Given the description of an element on the screen output the (x, y) to click on. 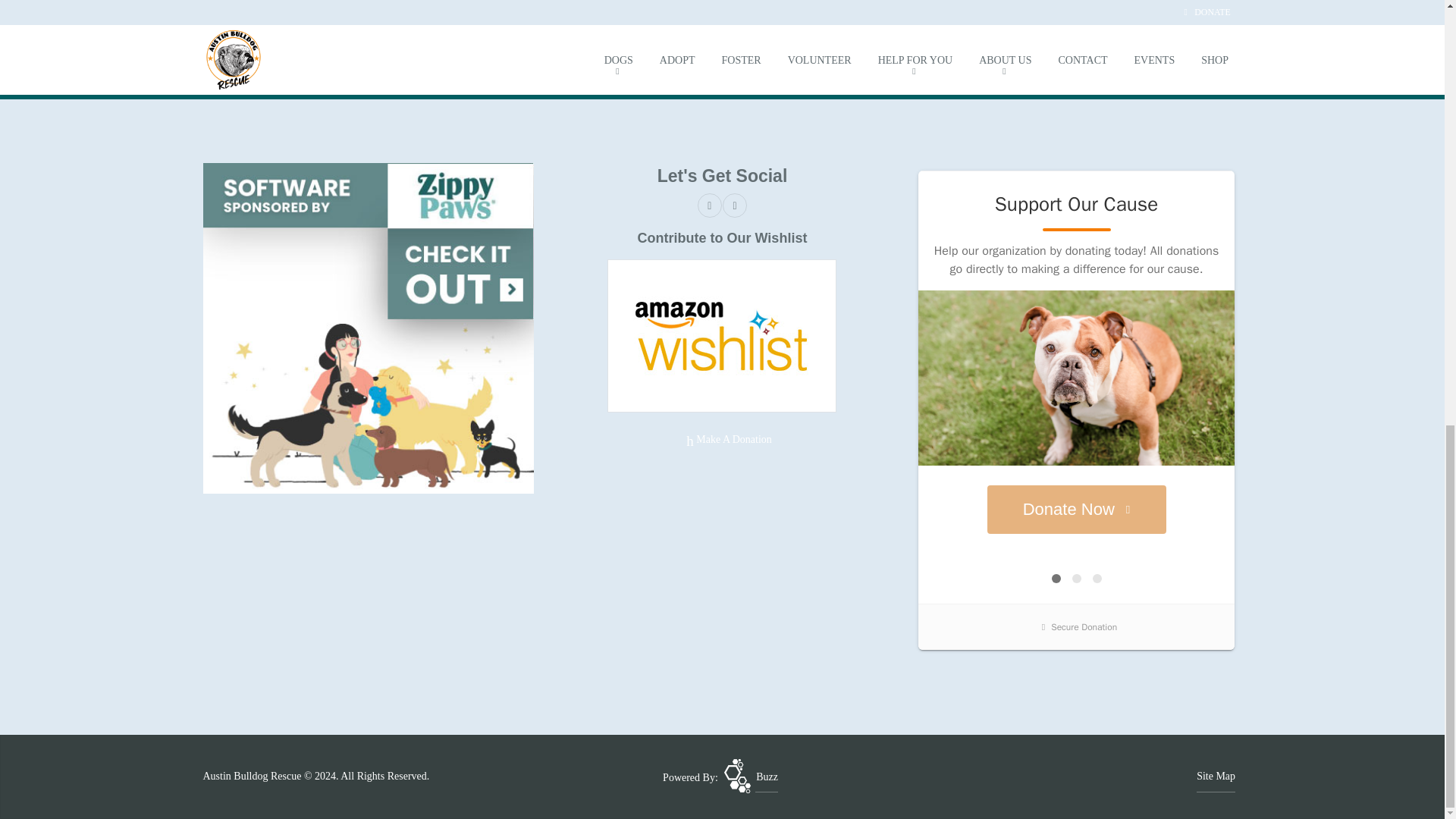
Site Map (1215, 776)
Austin Bulldog Rescue's Sponsor (368, 326)
Amazon Wishlist (721, 335)
Buzz (750, 777)
Follow Us on Facebook (709, 205)
Rescue Your Rescues (750, 777)
Submit (755, 11)
Follow Us on Instagram (734, 205)
Make A Donation (721, 439)
